Given the description of an element on the screen output the (x, y) to click on. 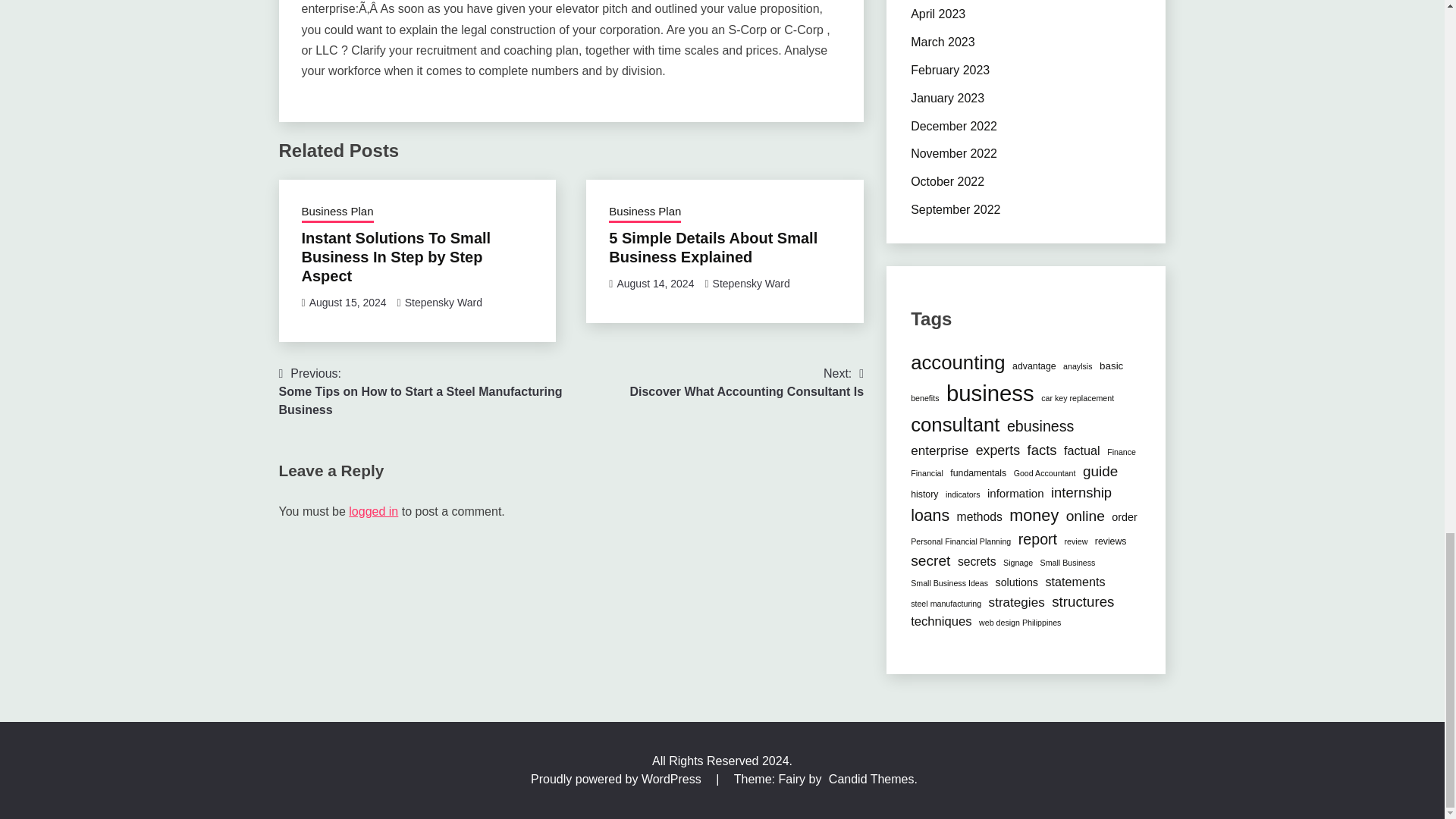
August 15, 2024 (347, 302)
5 Simple Details About Small Business Explained (712, 247)
Instant Solutions To Small Business In Step by Step Aspect (396, 257)
Stepensky Ward (751, 283)
Business Plan (337, 212)
Stepensky Ward (442, 302)
Business Plan (644, 212)
August 14, 2024 (654, 283)
